Given the description of an element on the screen output the (x, y) to click on. 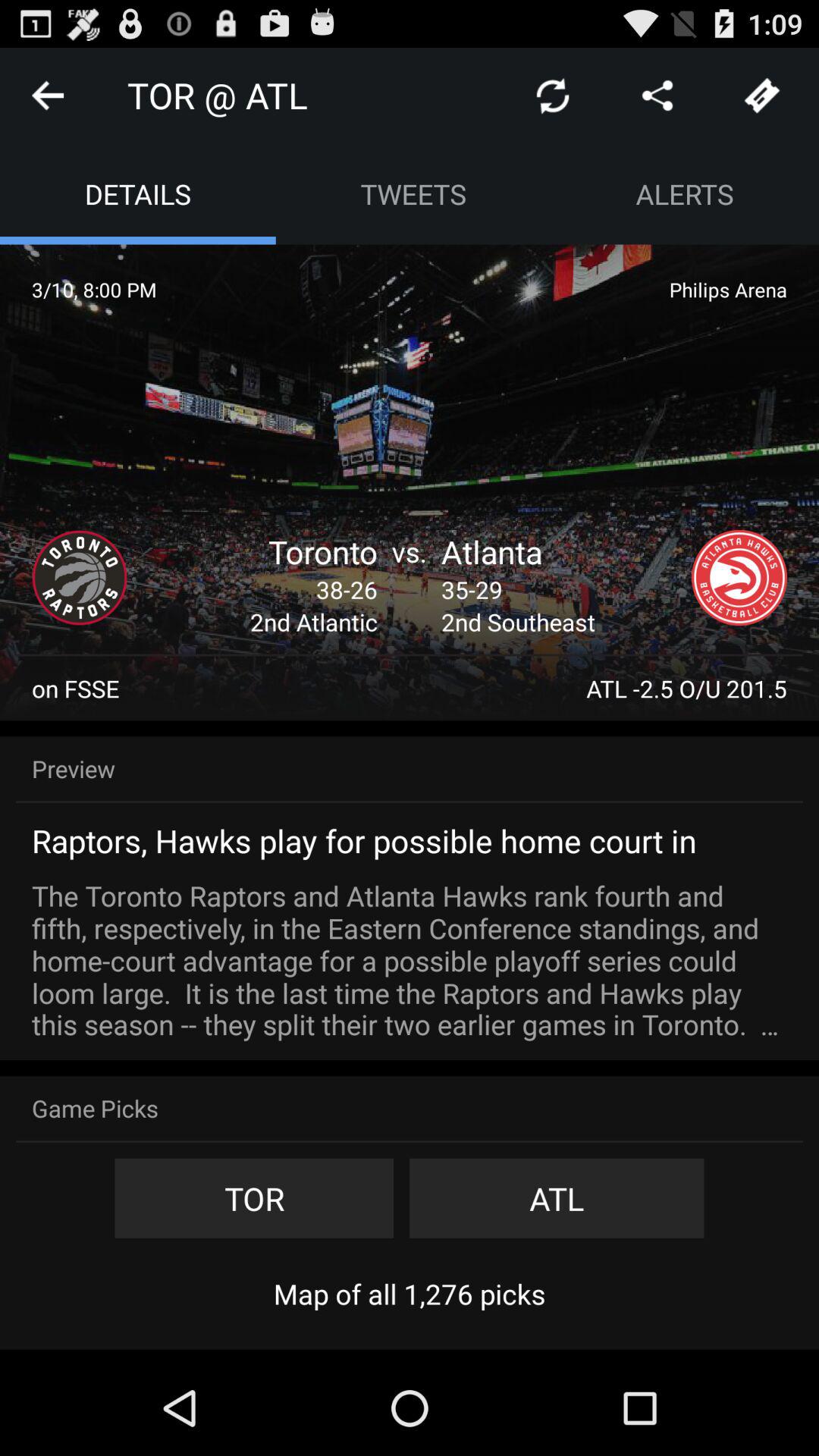
launch tweets (413, 193)
